Given the description of an element on the screen output the (x, y) to click on. 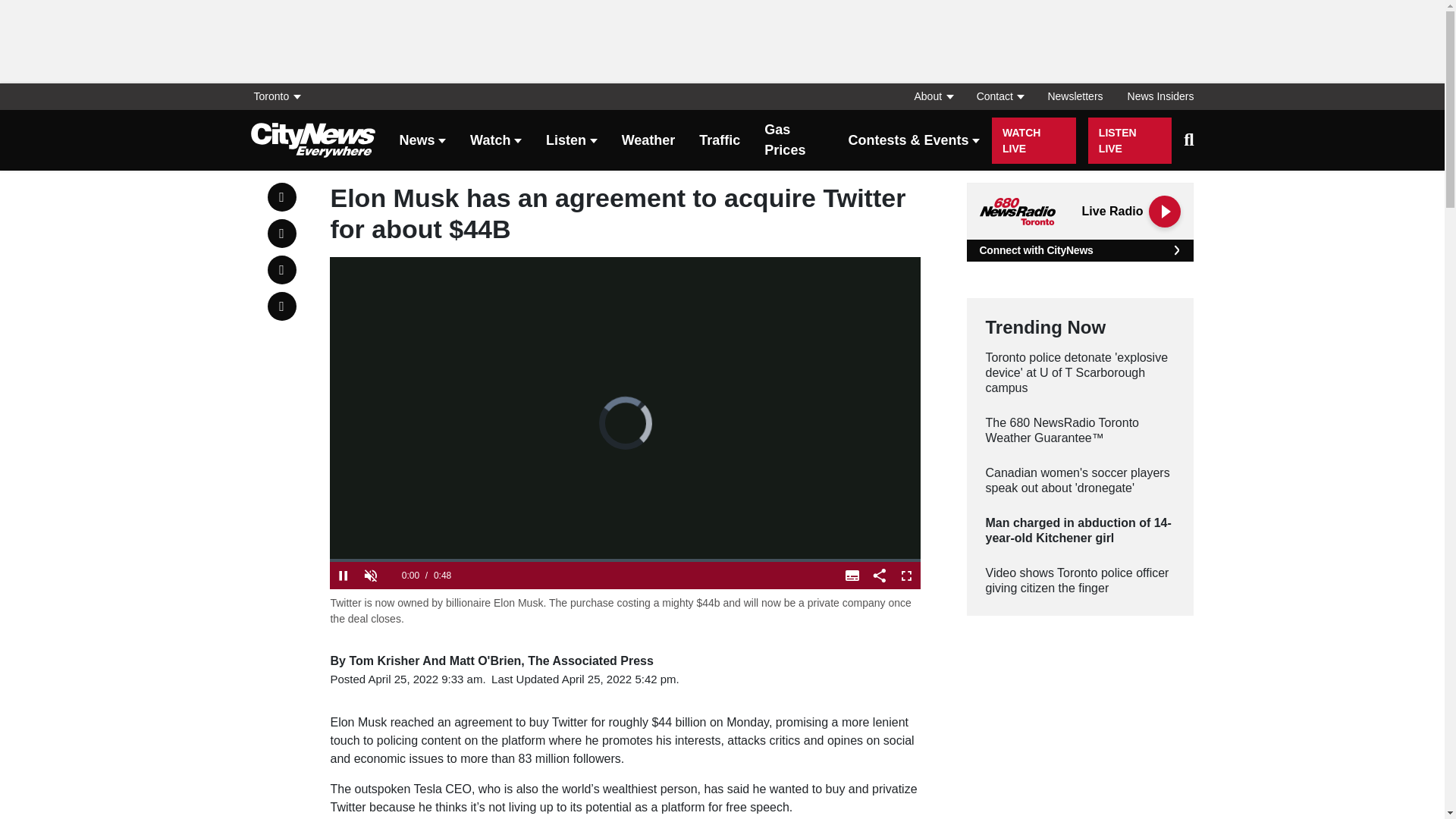
Share (879, 574)
News (421, 140)
Contact (999, 96)
Fullscreen (906, 574)
Toronto (280, 96)
News Insiders (1154, 96)
Newsletters (1075, 96)
Watch (495, 140)
Subtitles (852, 574)
About (932, 96)
Pause (343, 574)
Unmute (370, 574)
